Given the description of an element on the screen output the (x, y) to click on. 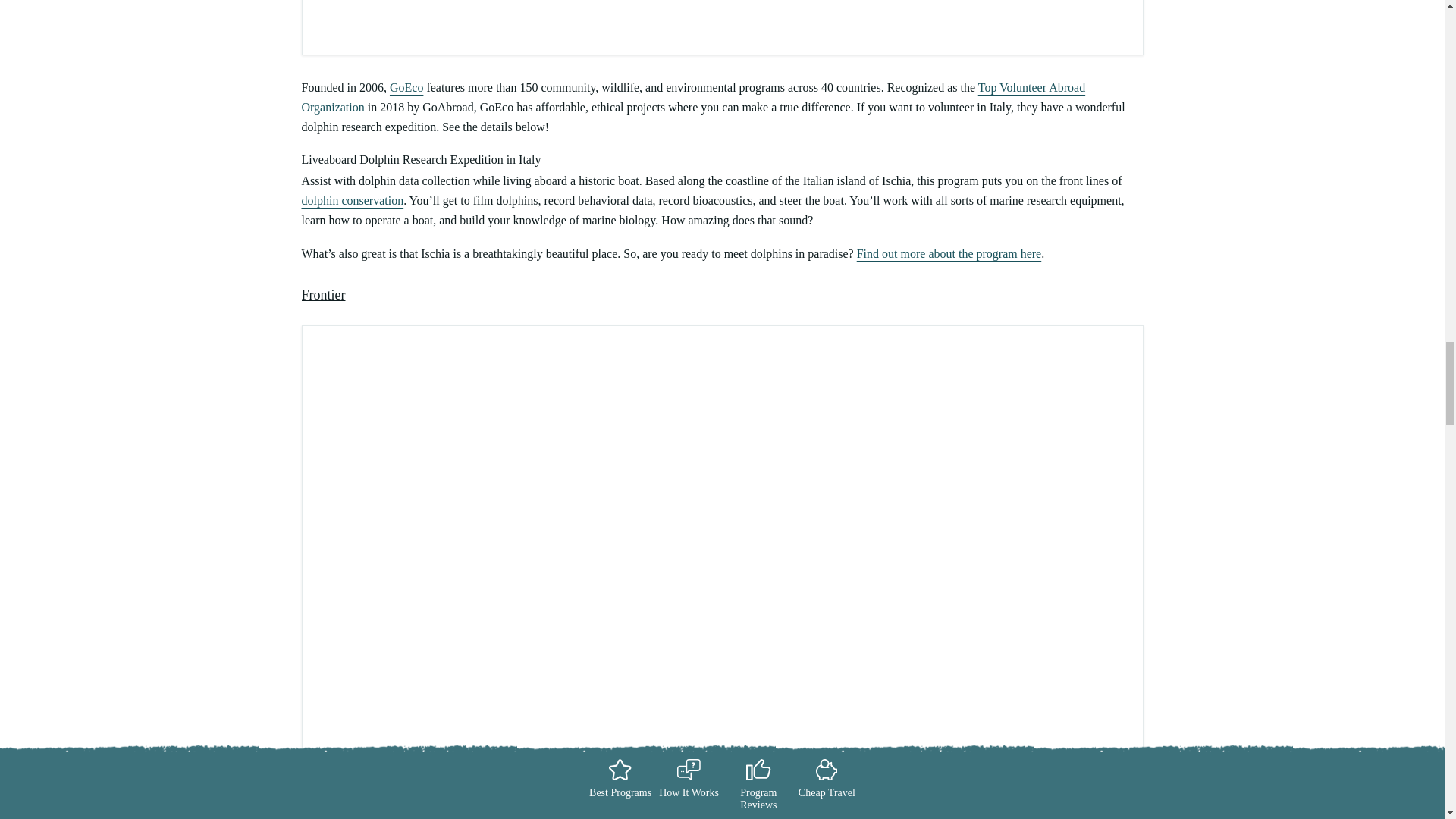
Top Volunteer Abroad Organization (693, 97)
Liveaboard Dolphin Research Expedition in Italy (421, 159)
Find out more about the program here (949, 253)
Frontier (323, 295)
dolphin conservation (352, 200)
GoEco (406, 87)
